Given the description of an element on the screen output the (x, y) to click on. 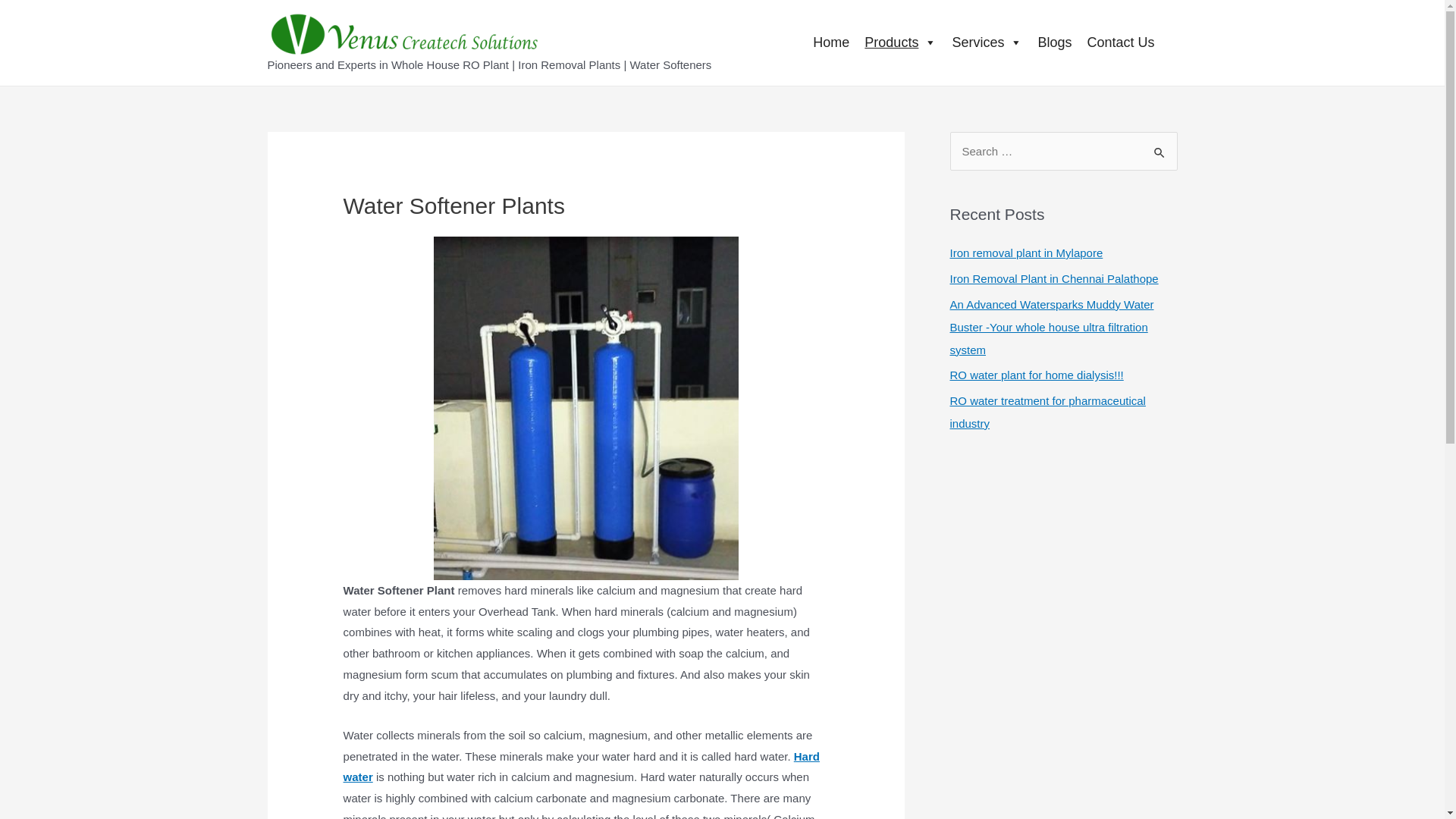
Search (1159, 146)
Home (831, 42)
Search (1159, 146)
Services (986, 42)
Products (900, 42)
